Given the description of an element on the screen output the (x, y) to click on. 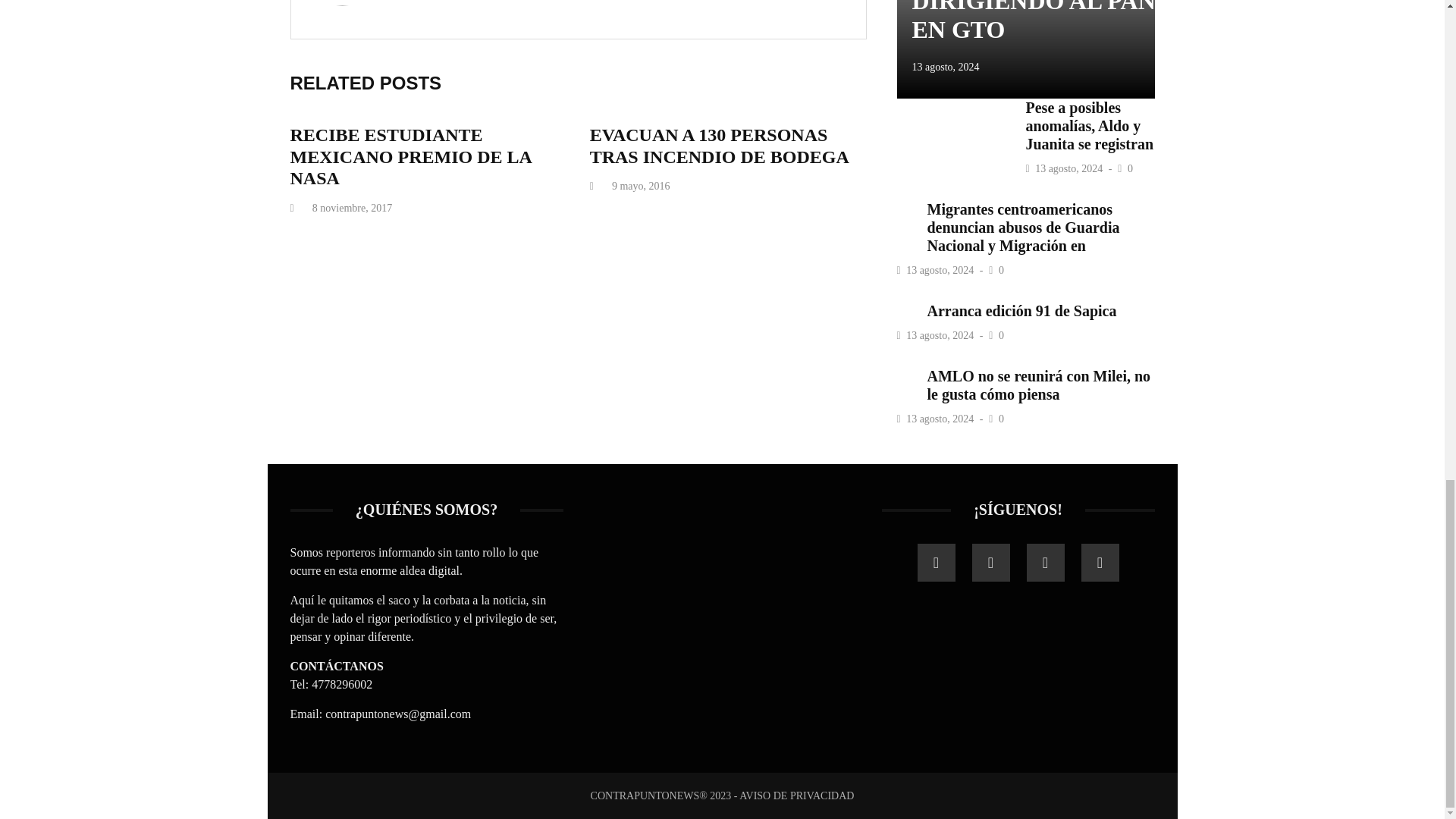
13 agosto, 2024 (1070, 168)
RECIBE ESTUDIANTE MEXICANO PREMIO DE LA NASA (410, 157)
13 agosto, 2024 (944, 66)
13 agosto, 2024 (940, 270)
8 noviembre, 2017 (352, 207)
EVACUAN A 130 PERSONAS TRAS INCENDIO DE BODEGA (718, 146)
9 mayo, 2016 (640, 185)
